Given the description of an element on the screen output the (x, y) to click on. 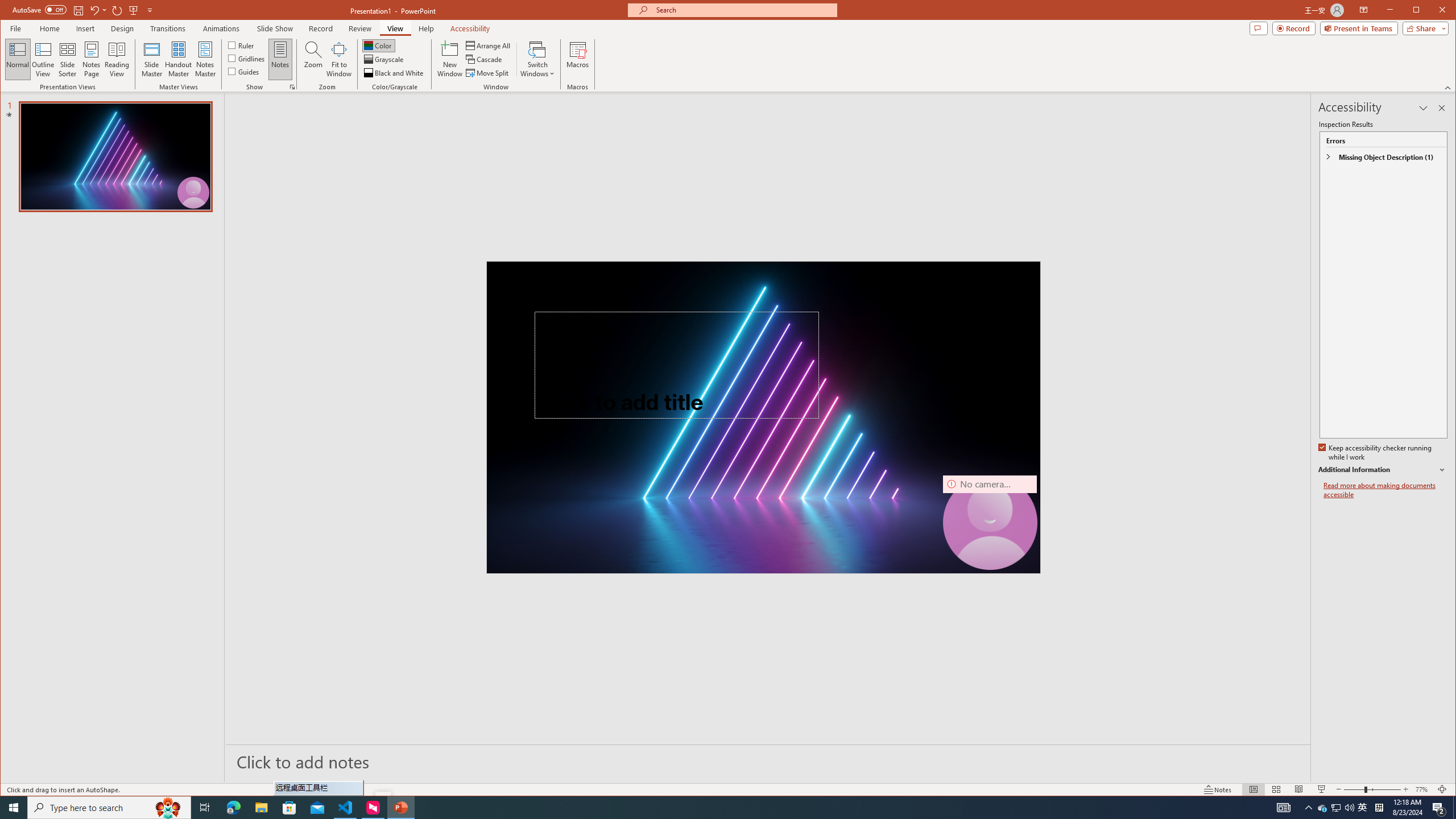
Cascade (484, 59)
Zoom... (312, 59)
Gridlines (246, 57)
